Given the description of an element on the screen output the (x, y) to click on. 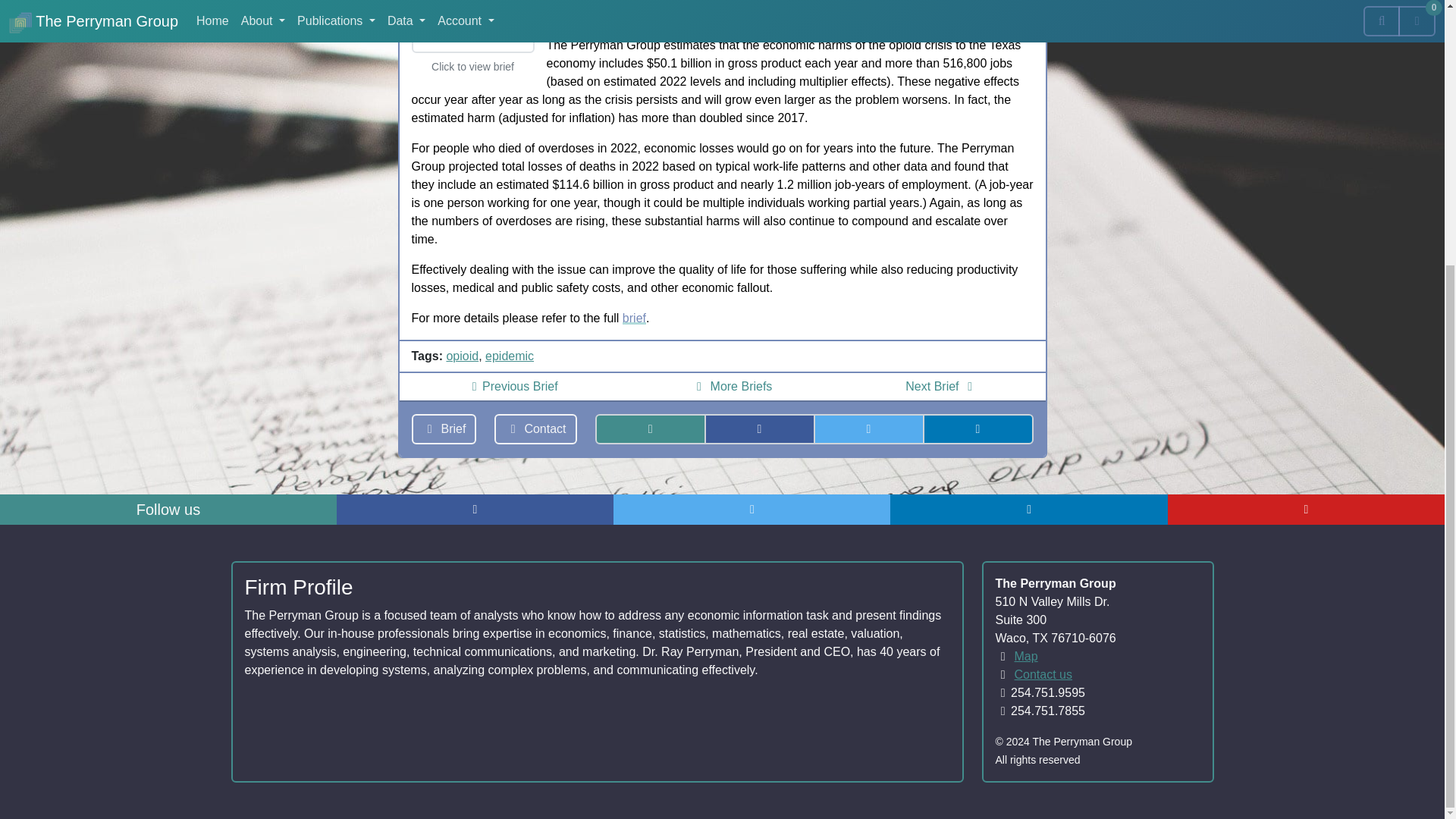
Previous Brief (511, 386)
brief (634, 318)
opioid (462, 355)
Brief (443, 429)
Next Brief (941, 386)
Click to view brief (472, 37)
Contact (535, 429)
epidemic (509, 355)
More Briefs (732, 386)
